Given the description of an element on the screen output the (x, y) to click on. 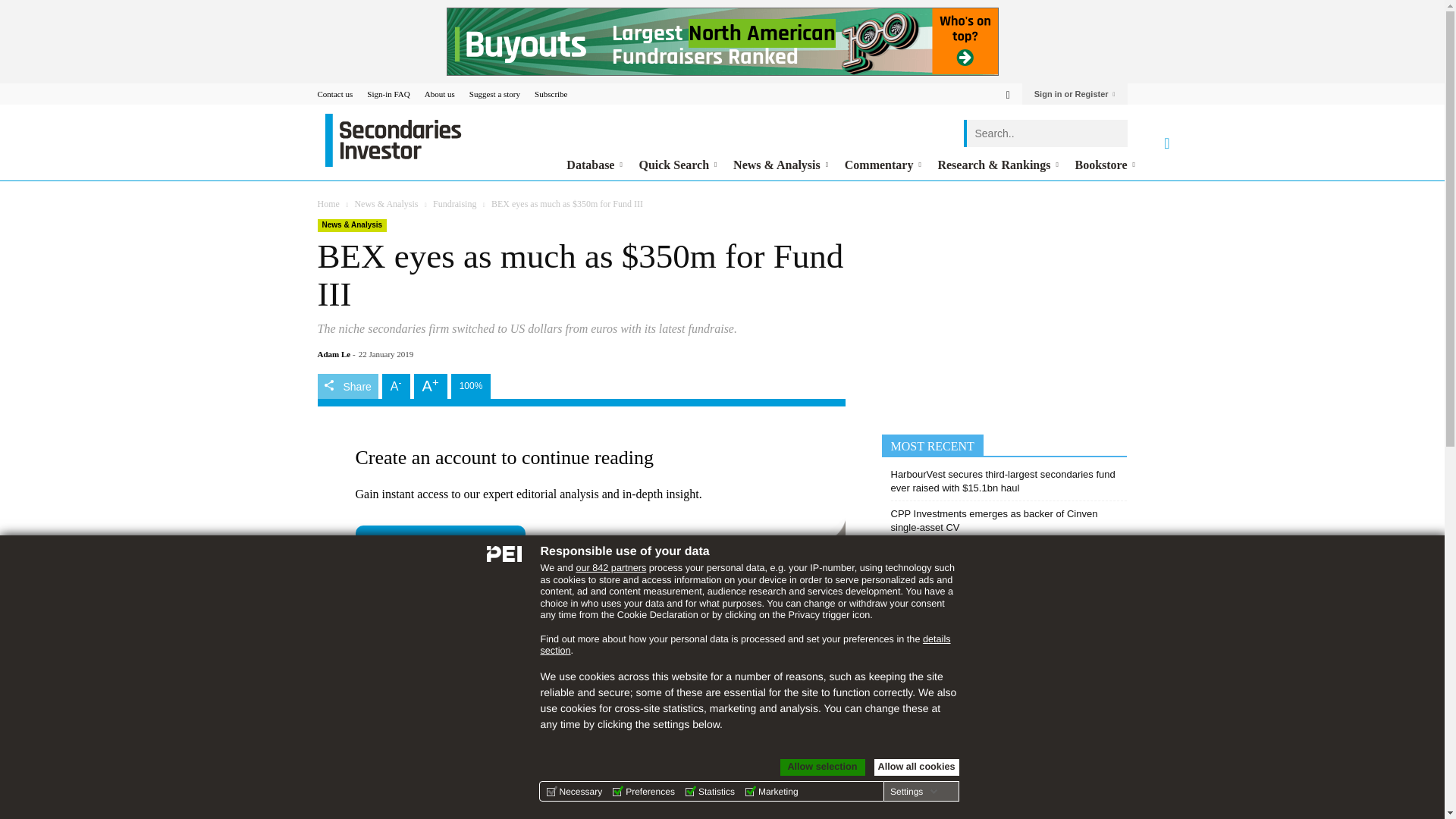
Allow selection (821, 767)
details section (745, 644)
our 842 partners (610, 567)
Settings (913, 791)
Allow all cookies (915, 767)
